Given the description of an element on the screen output the (x, y) to click on. 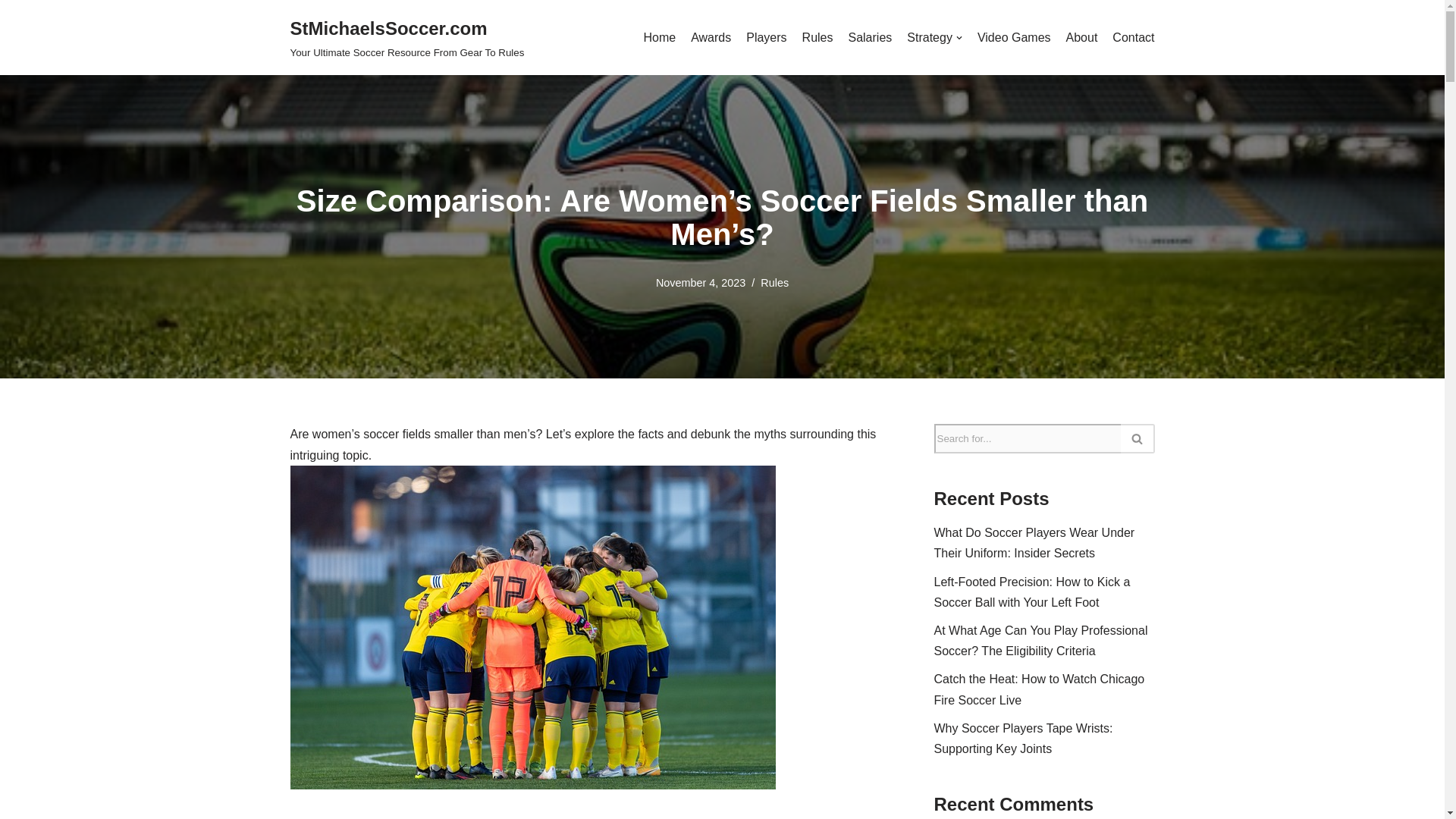
Awards (710, 37)
Video Games (1013, 37)
Skip to content (11, 31)
Salaries (869, 37)
Home (659, 37)
Rules (817, 37)
Contact (1133, 37)
Players (765, 37)
About (1081, 37)
Strategy (934, 37)
Rules (774, 282)
StMichaelsSoccer.com (406, 37)
